Given the description of an element on the screen output the (x, y) to click on. 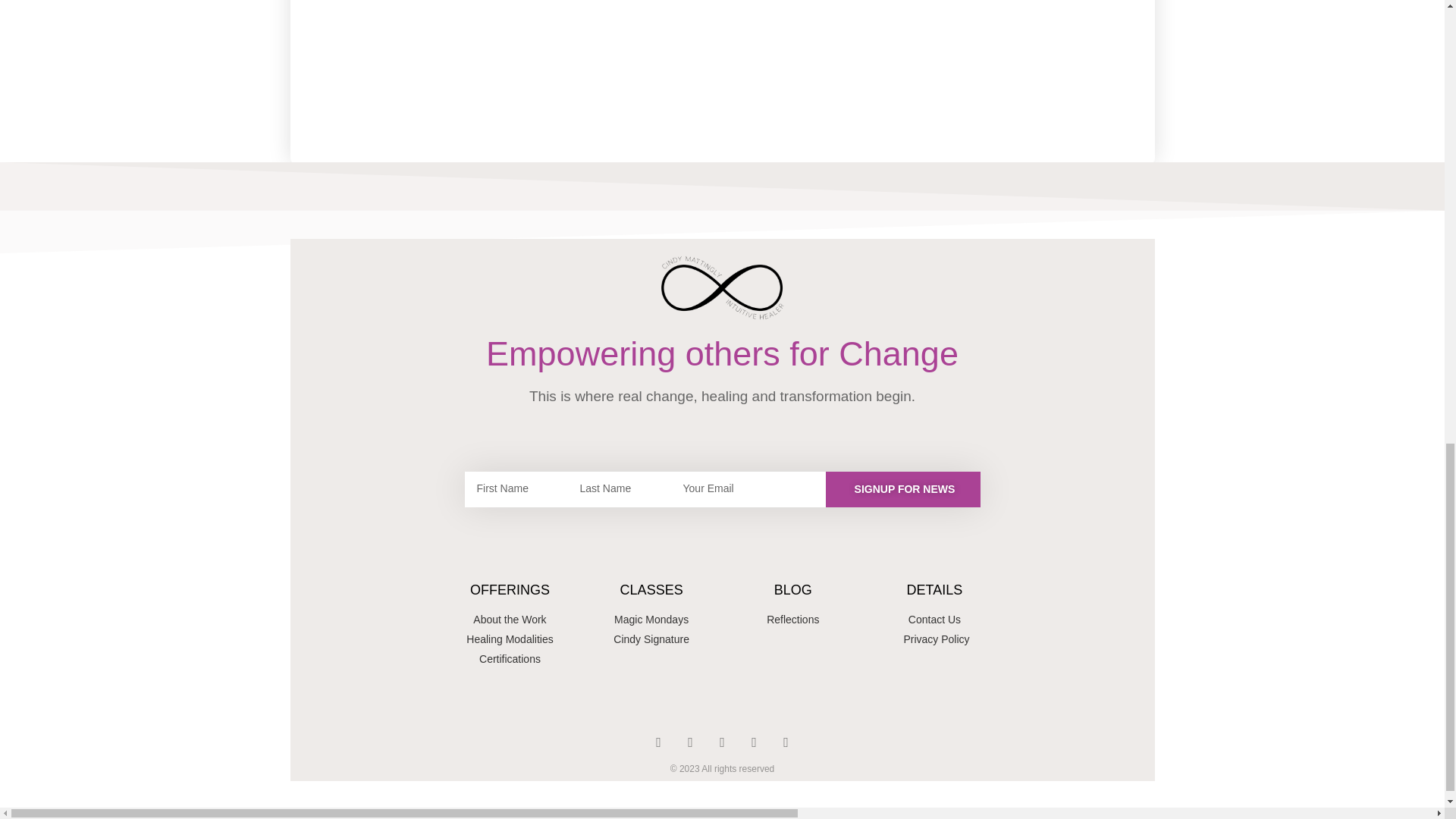
SIGNUP FOR NEWS (902, 488)
Contact Us (934, 619)
About the Work (509, 619)
Reflections (792, 619)
Privacy Policy (934, 639)
Healing Modalities (509, 639)
Magic Mondays (651, 619)
Cindy Signature (651, 639)
Certifications (509, 659)
